Given the description of an element on the screen output the (x, y) to click on. 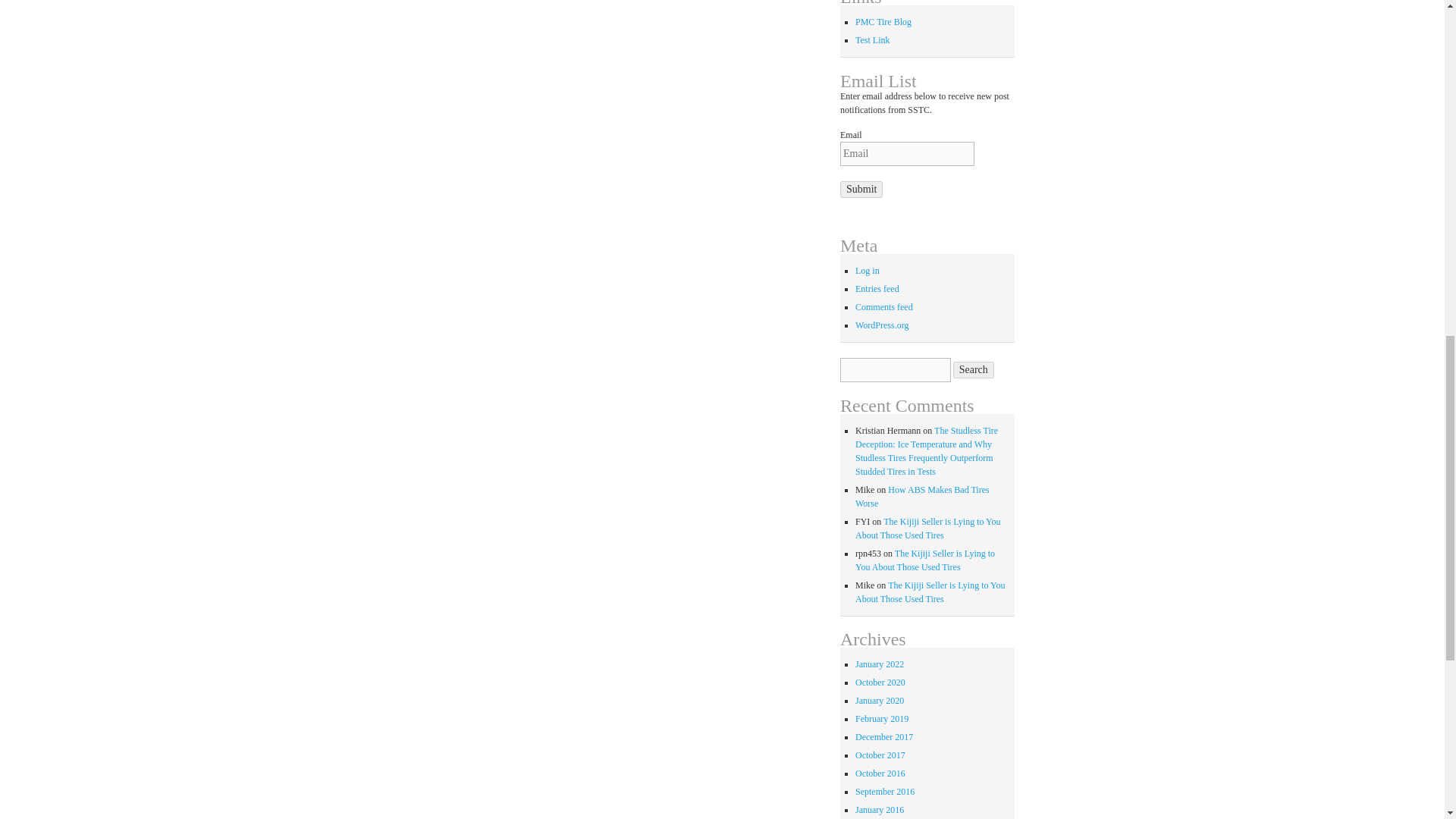
Submit (861, 189)
Search (973, 369)
